Given the description of an element on the screen output the (x, y) to click on. 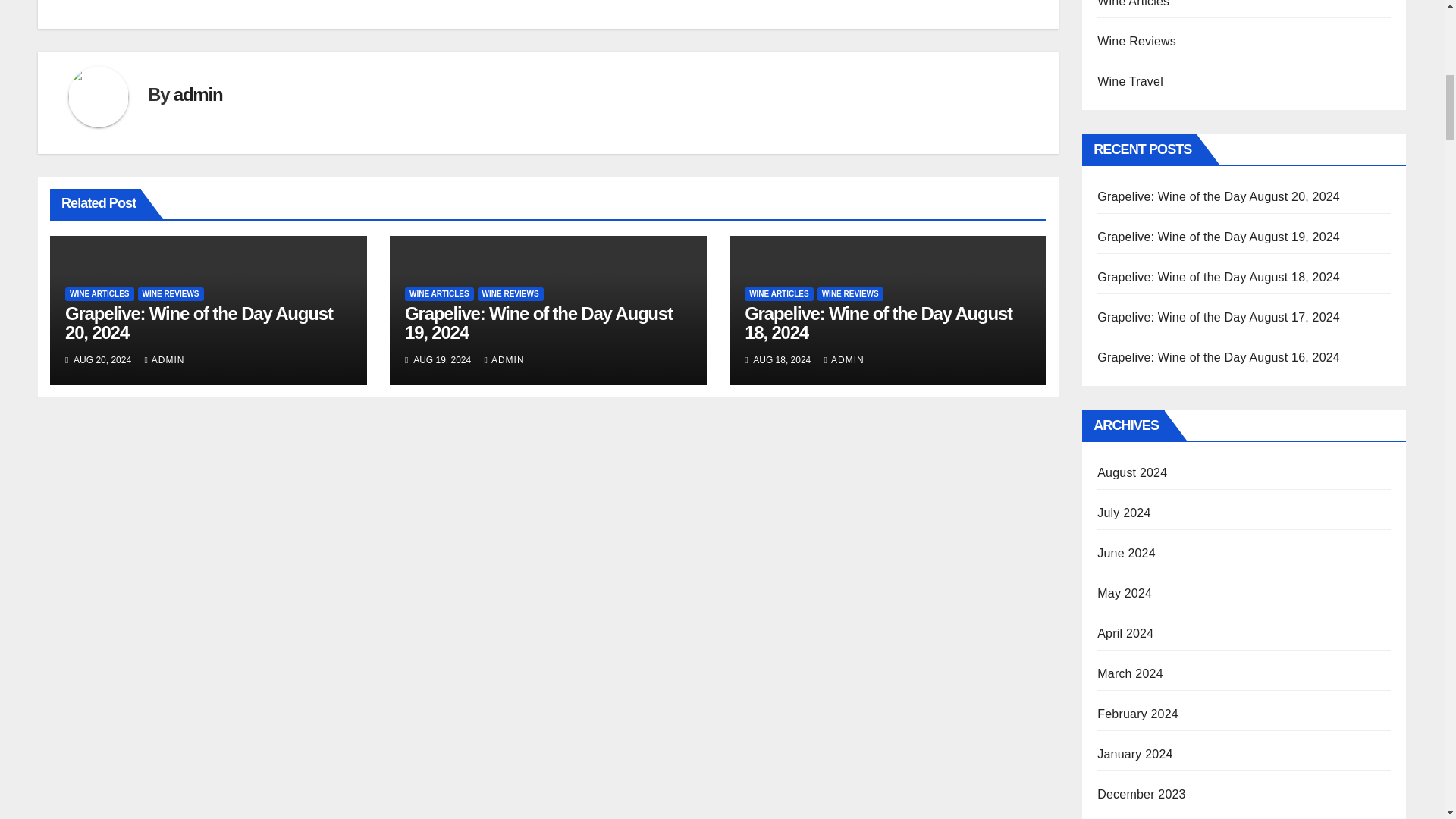
ADMIN (164, 359)
Permalink to: Grapelive: Wine of the Day August 19, 2024 (538, 323)
WINE ARTICLES (439, 294)
admin (197, 94)
WINE REVIEWS (170, 294)
Permalink to: Grapelive: Wine of the Day August 18, 2024 (877, 323)
Grapelive: Wine of the Day August 20, 2024 (199, 323)
WINE ARTICLES (99, 294)
Permalink to: Grapelive: Wine of the Day August 20, 2024 (199, 323)
